Given the description of an element on the screen output the (x, y) to click on. 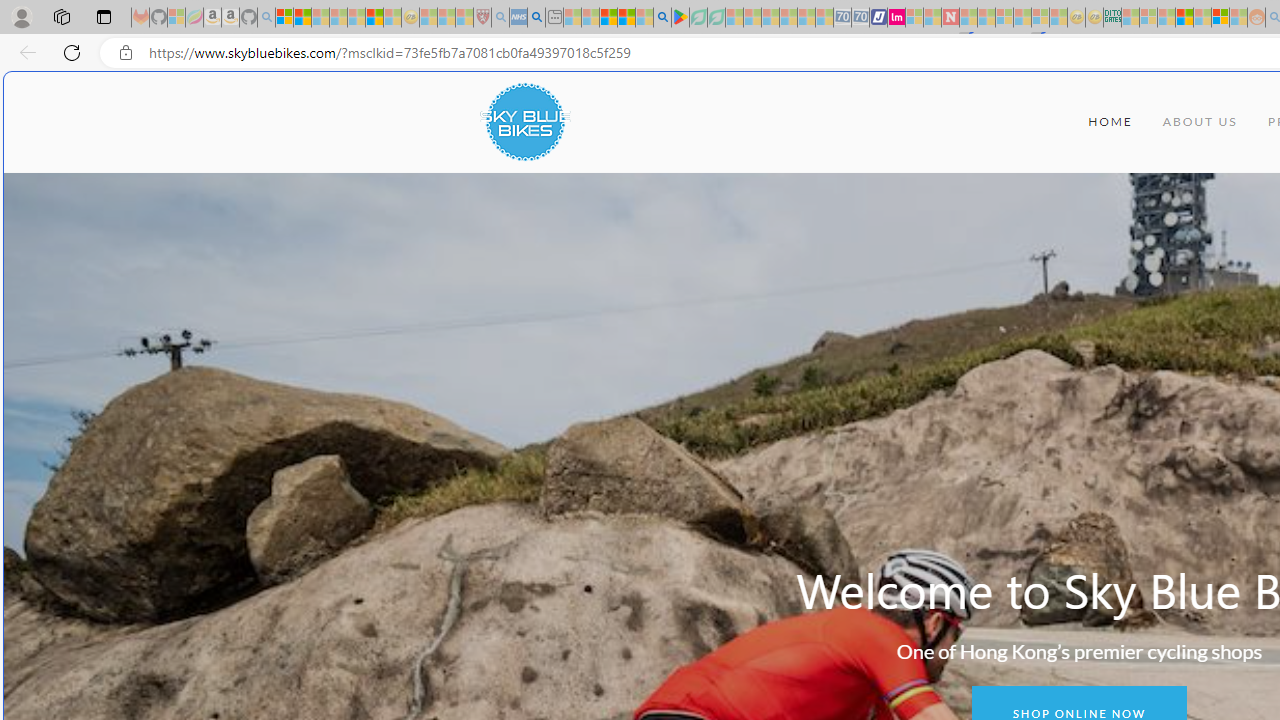
Jobs - lastminute.com Investor Portal (896, 17)
HOME (1110, 122)
HOME (1110, 122)
